Given the description of an element on the screen output the (x, y) to click on. 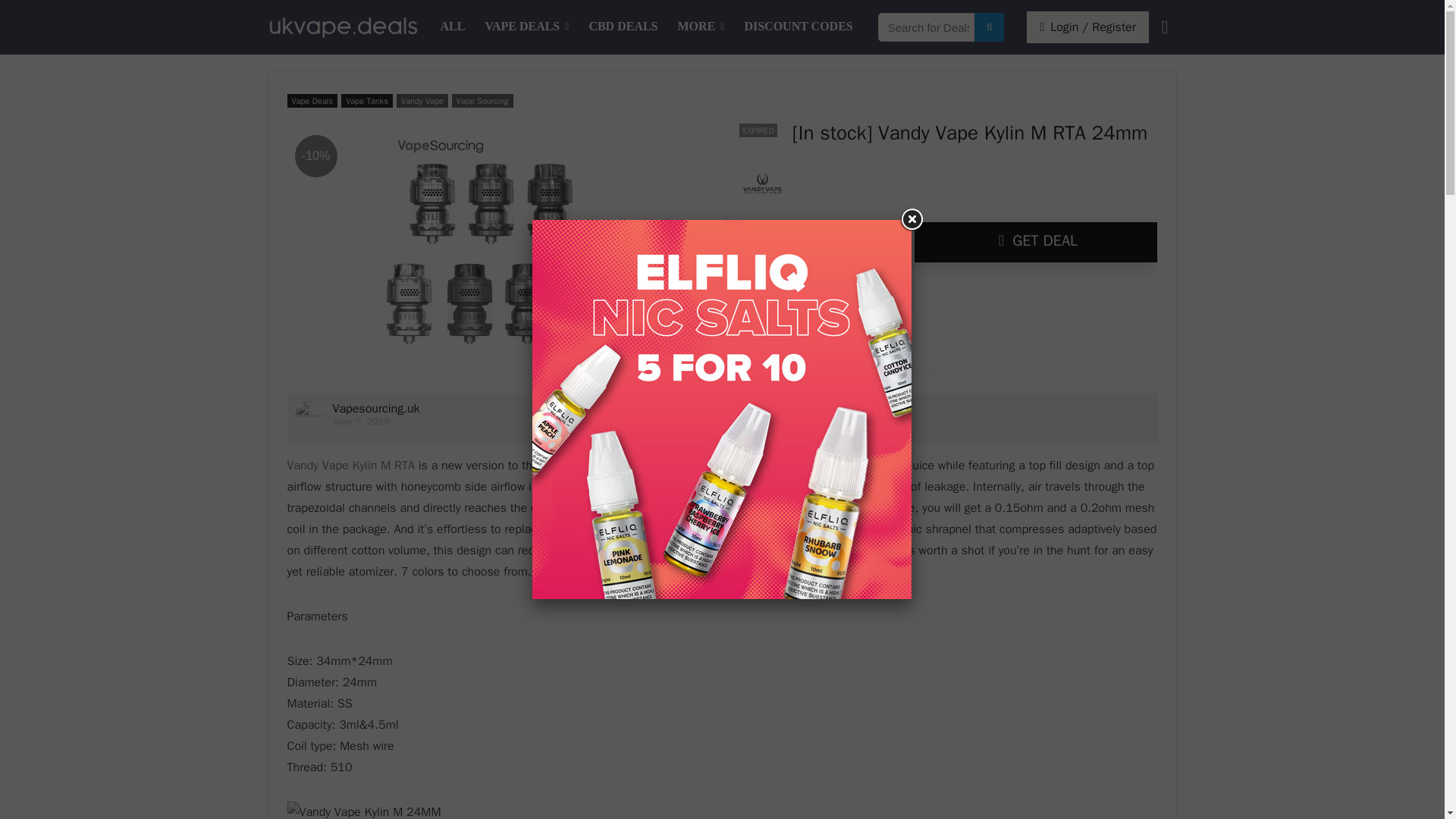
View all posts in Vape Deals (311, 100)
Vape Deals (526, 27)
Vape Tanks (366, 100)
View all posts in Vape Tanks (366, 100)
Vape Sourcing (482, 100)
GET DEAL (1035, 241)
Vandy Vape (422, 100)
MORE (701, 27)
Vape Deals (311, 100)
UK Vape Deals  (453, 27)
CBD DEALS (622, 27)
ALL (453, 27)
Vandy Vape Kylin M RTA (349, 465)
VAPE DEALS (526, 27)
Vapesourcing.uk (375, 408)
